Given the description of an element on the screen output the (x, y) to click on. 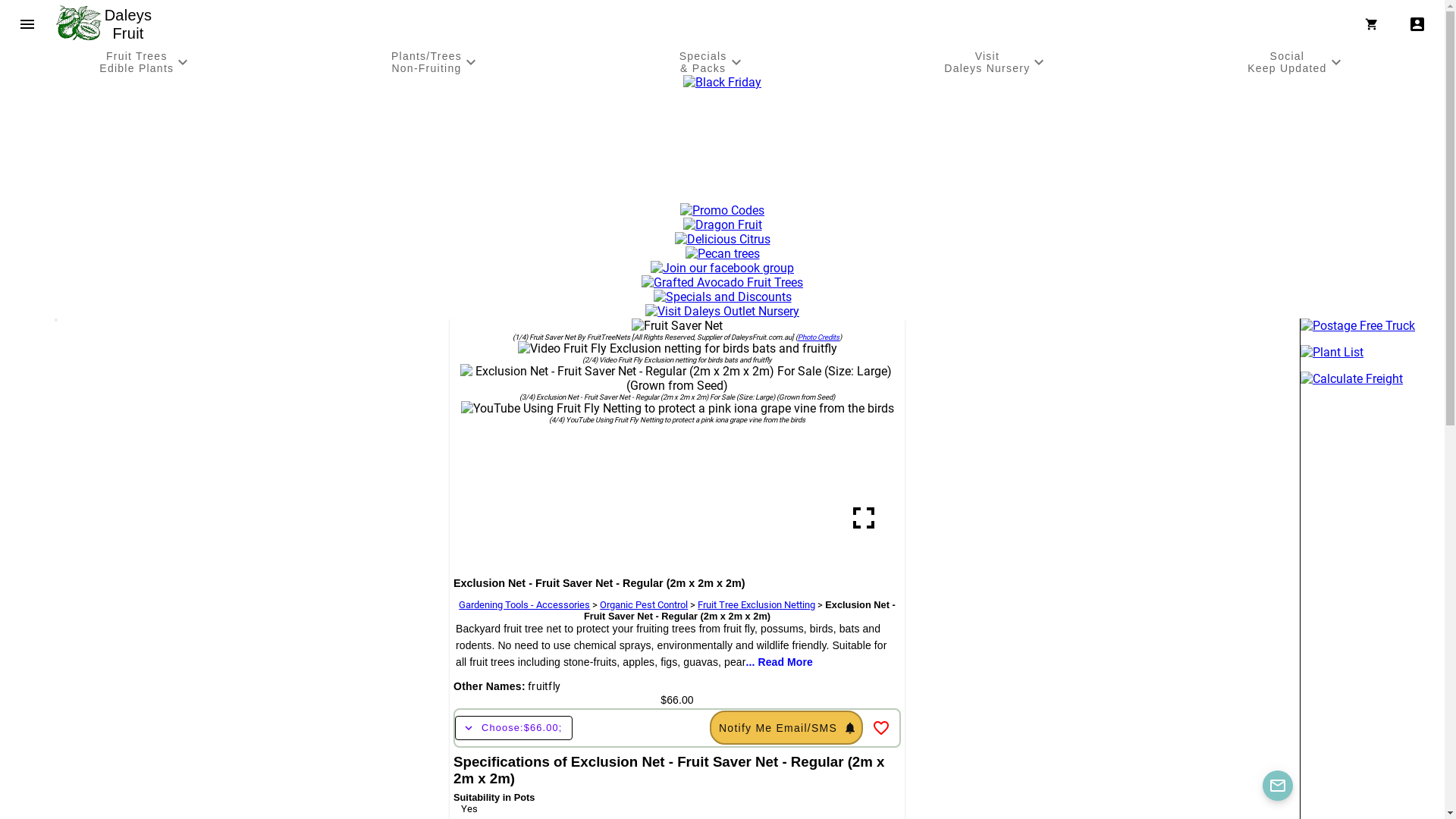
Fruit Tree Exclusion Netting Element type: text (756, 604)
expand_more
Choose:
$66.00;  Element type: text (513, 727)
Gardening Tools - Accessories Element type: text (523, 604)
Social
Keep Updated
expand_more Element type: text (1296, 61)
shopping_cart Element type: text (1374, 23)
In Stock Grafted Avocado Fruit Trees are now ready Element type: hover (722, 282)
Black Friday Element type: hover (722, 82)
account_box Element type: text (1417, 24)
Notify Me Email/SMS
notifications Element type: text (785, 727)
Get an Irrigation Quote for Fruit Trees Element type: hover (722, 195)
Photo Credits Element type: text (818, 336)
menu Element type: text (27, 24)
... Read More Element type: text (778, 661)
Specials
& Packs
expand_more Element type: text (711, 61)
Visit
Daleys Nursery
expand_more Element type: text (996, 61)
Organic Pest Control Element type: text (643, 604)
Plants/Trees
Non-Fruiting
expand_more Element type: text (435, 61)
email Element type: text (1277, 785)
favorite_border Element type: text (880, 727)
Every Plant Ready to Send Plants In Stock Element type: hover (1372, 352)
Pecan trees Element type: hover (722, 253)
Daleys Fruit Element type: text (130, 23)
Join our facebook group Element type: hover (721, 267)
Postage Free Fruit Trees Element type: hover (1372, 325)
Citrus Banner Element type: hover (722, 239)
Fruit Trees
Edible Plants
expand_more Element type: text (145, 61)
